Given the description of an element on the screen output the (x, y) to click on. 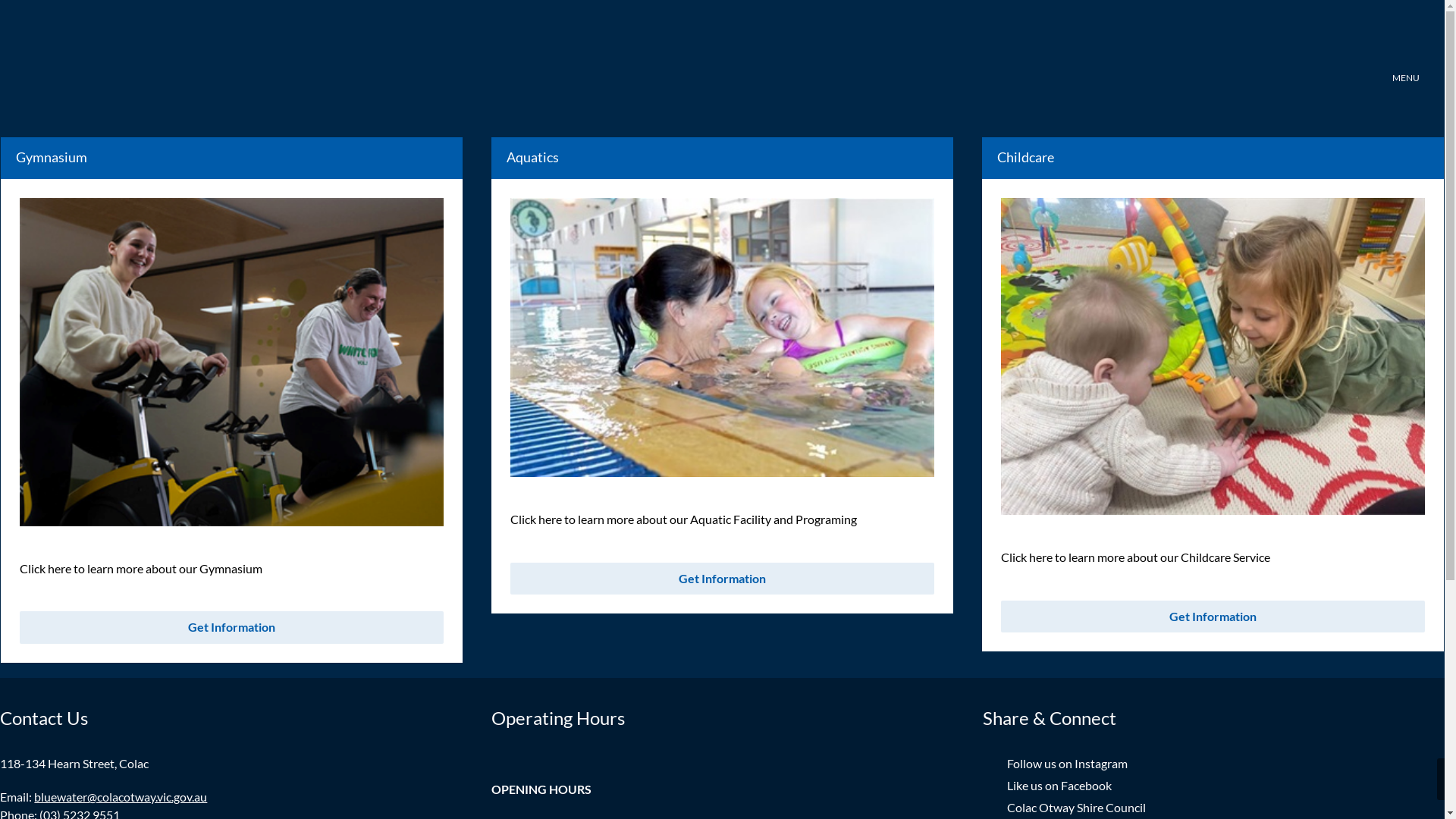
Menu Element type: text (1405, 59)
Home - Bluewater - Logo Element type: text (79, 52)
Colac Otway Shire Council Element type: text (1225, 807)
Like us on Facebook Element type: text (1225, 785)
bluewater@colacotway.vic.gov.au Element type: text (120, 796)
Follow us on Instagram Element type: text (1225, 763)
